Given the description of an element on the screen output the (x, y) to click on. 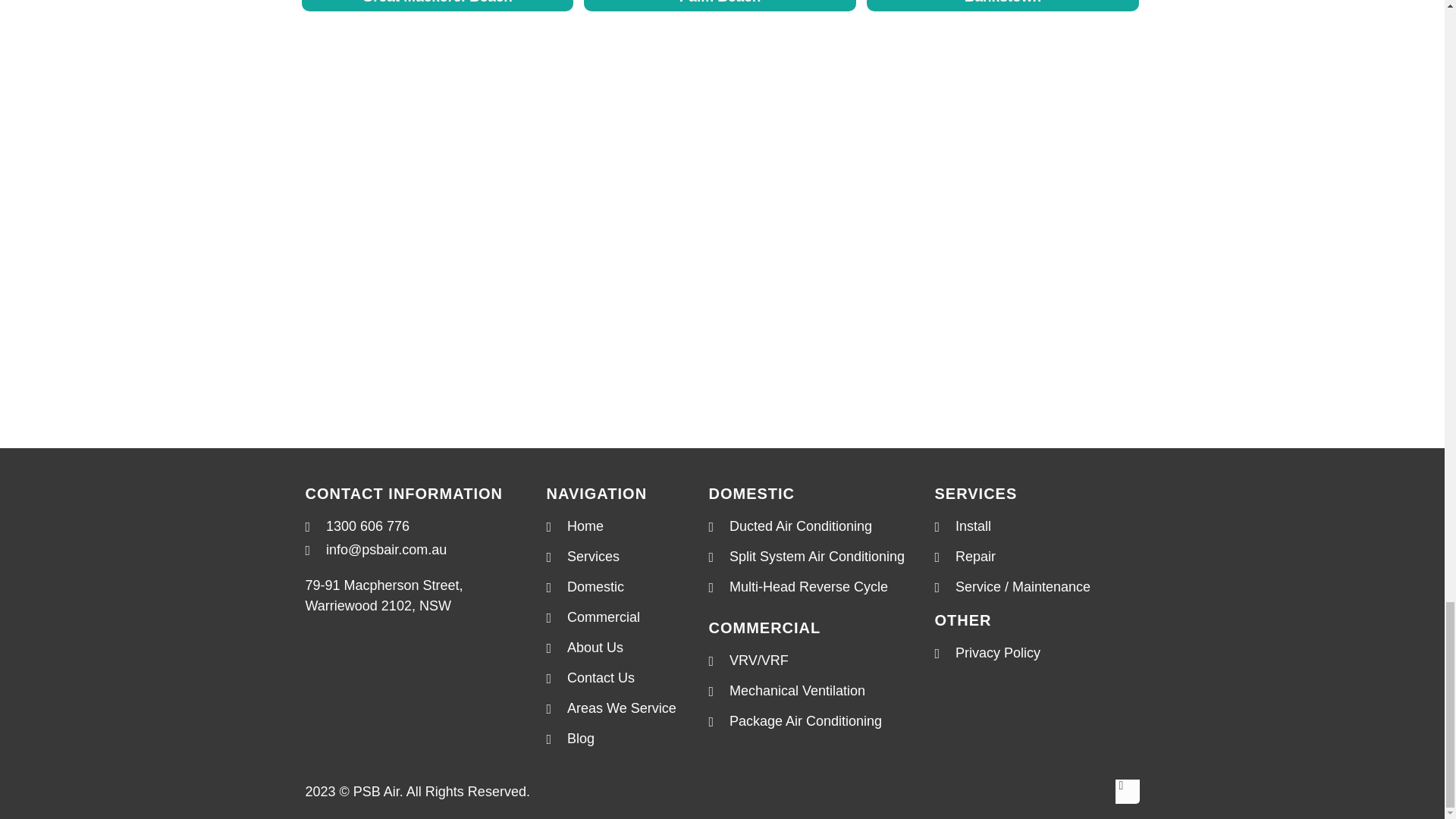
Palm Beach (719, 5)
Great Mackerel Beach (437, 5)
Bankstown (1002, 5)
